Given the description of an element on the screen output the (x, y) to click on. 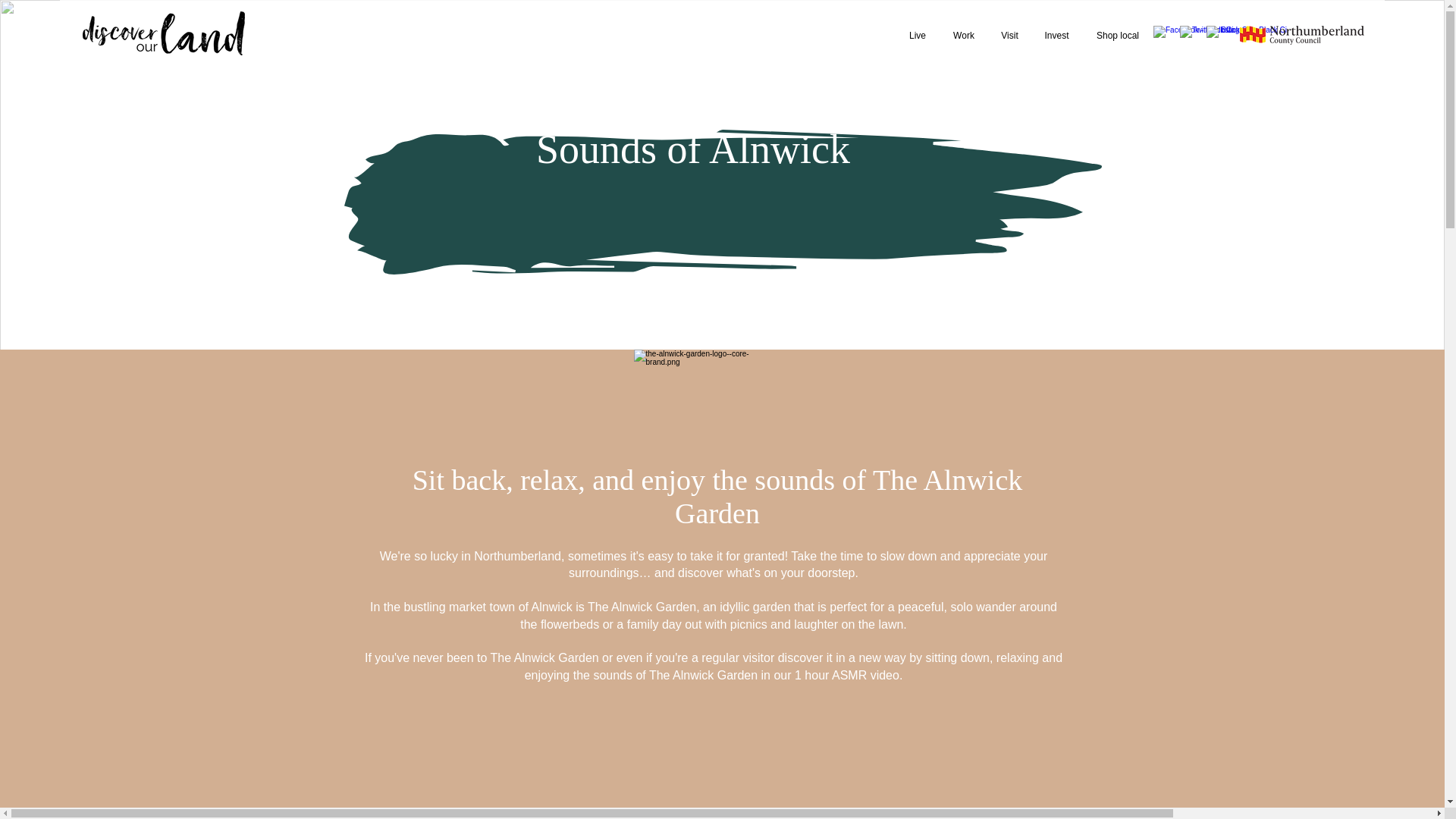
Invest (1055, 35)
Shop local (1117, 35)
Live (917, 35)
Visit (1009, 35)
Work (963, 35)
